Given the description of an element on the screen output the (x, y) to click on. 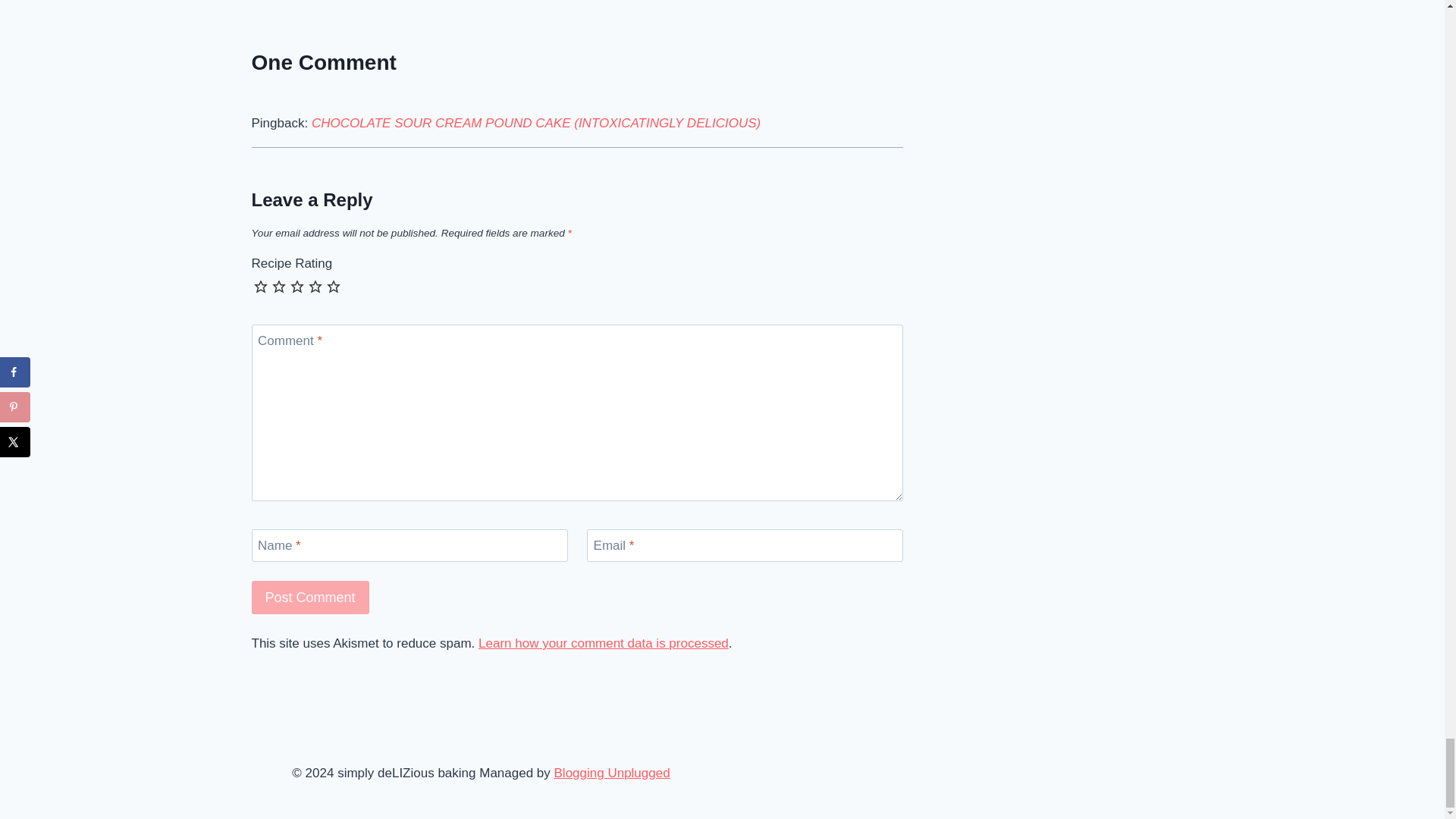
Post Comment (310, 596)
